Given the description of an element on the screen output the (x, y) to click on. 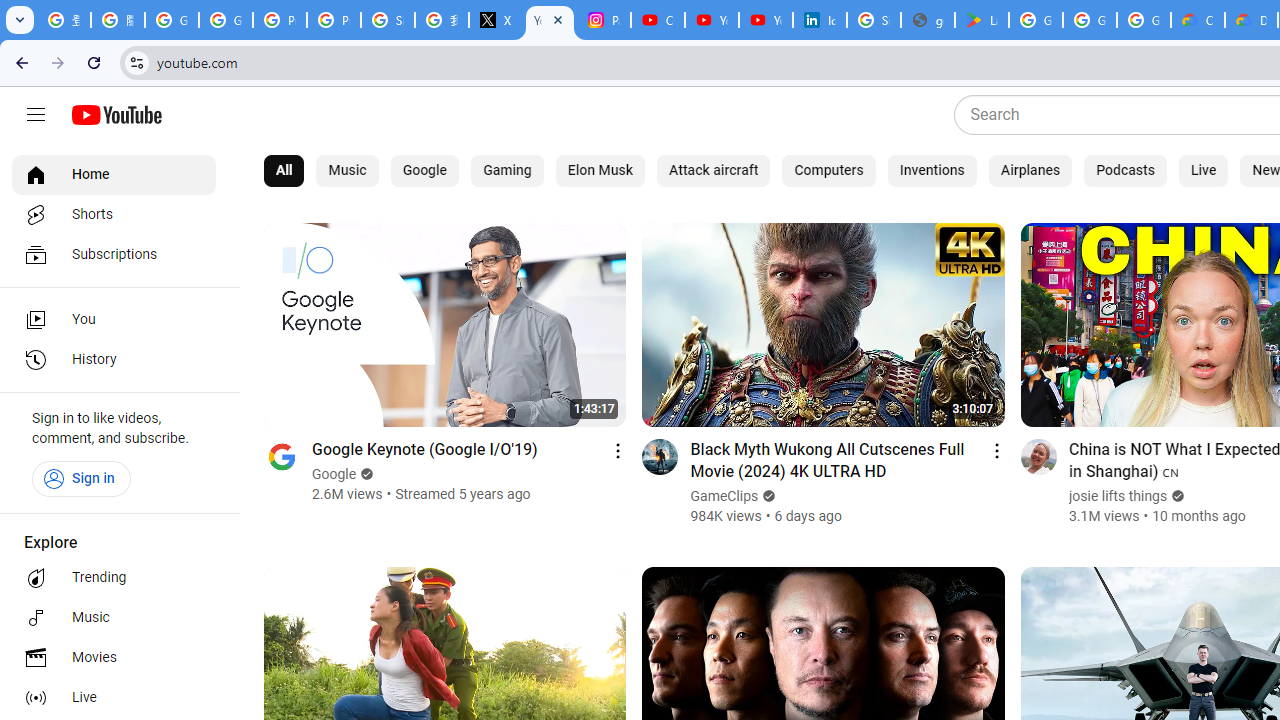
History (113, 359)
